Given the description of an element on the screen output the (x, y) to click on. 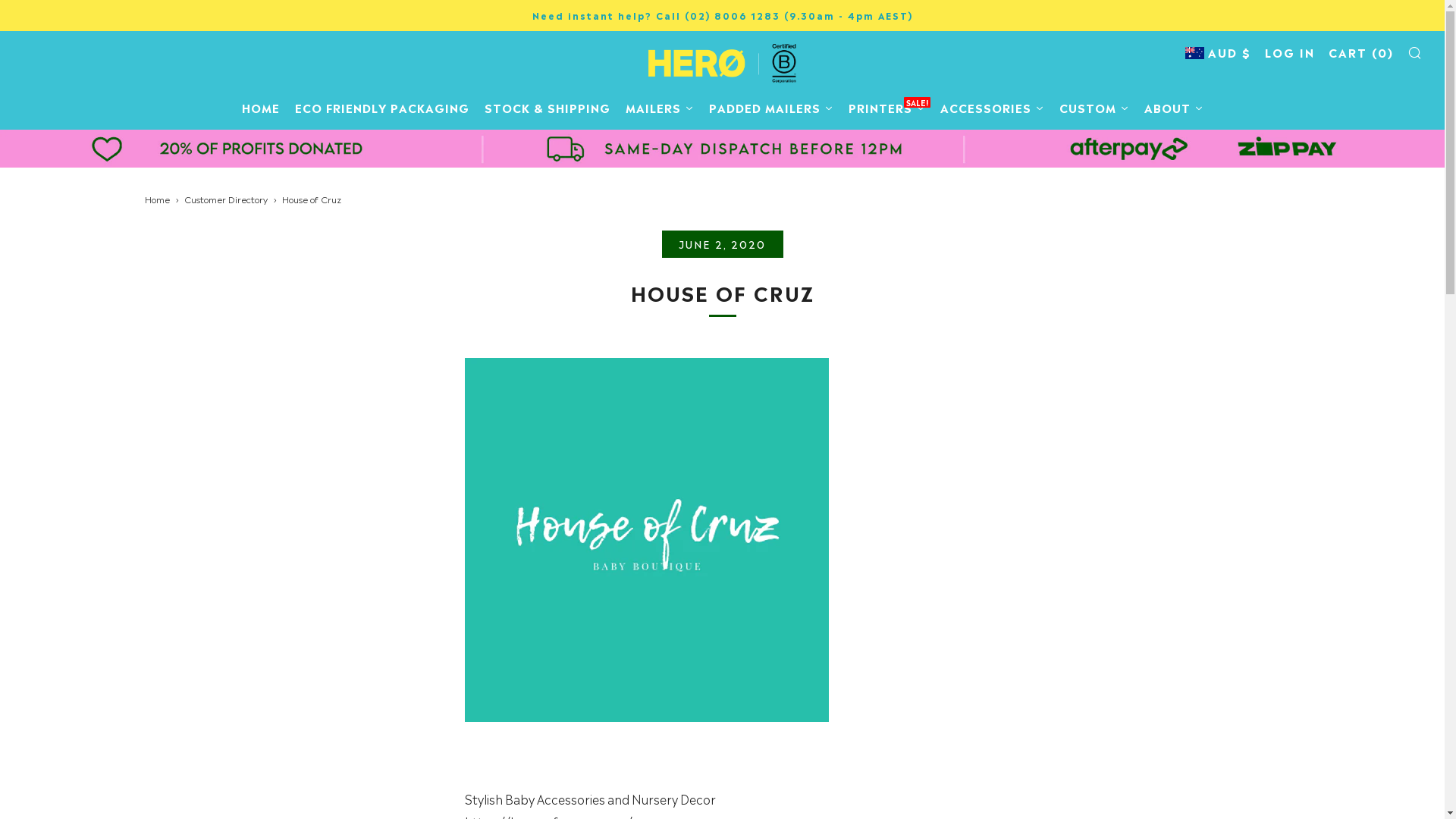
PRINTERS
SALE! Element type: text (885, 107)
MAILERS Element type: text (658, 107)
PADDED MAILERS Element type: text (770, 107)
ACCESSORIES Element type: text (991, 107)
Need instant help? Call (02) 8006 1283 (9.30am - 4pm AEST) Element type: text (722, 15)
STOCK & SHIPPING Element type: text (546, 107)
CUSTOM Element type: text (1093, 107)
Customer Directory Element type: text (224, 198)
CART (0) Element type: text (1360, 51)
HOME Element type: text (259, 107)
SEARCH Element type: text (1414, 52)
AUD $ Element type: text (1218, 51)
Home Element type: text (156, 198)
LOG IN Element type: text (1289, 51)
ECO FRIENDLY PACKAGING Element type: text (381, 107)
ABOUT Element type: text (1172, 107)
